Given the description of an element on the screen output the (x, y) to click on. 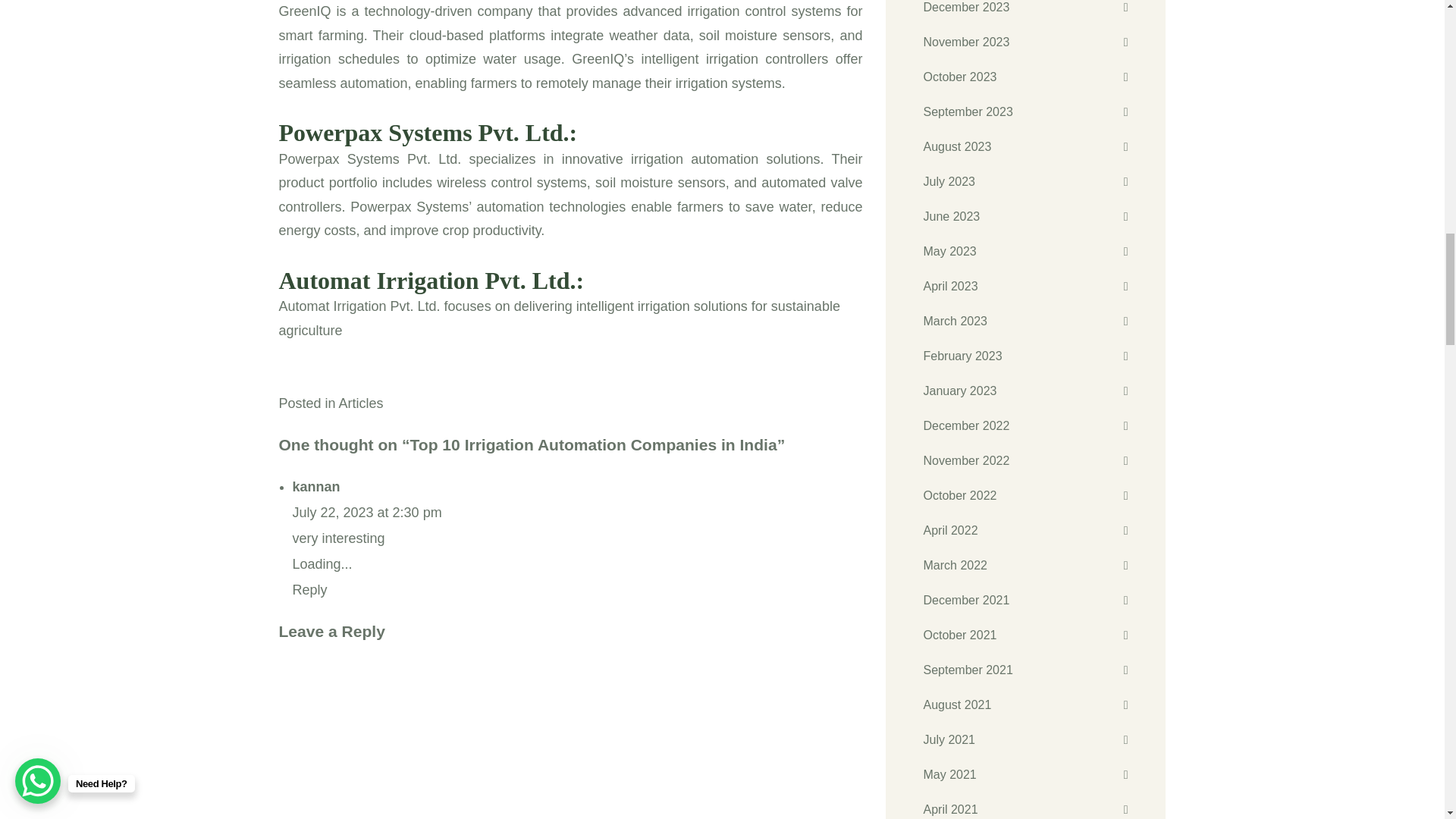
Comment Form (571, 739)
